Given the description of an element on the screen output the (x, y) to click on. 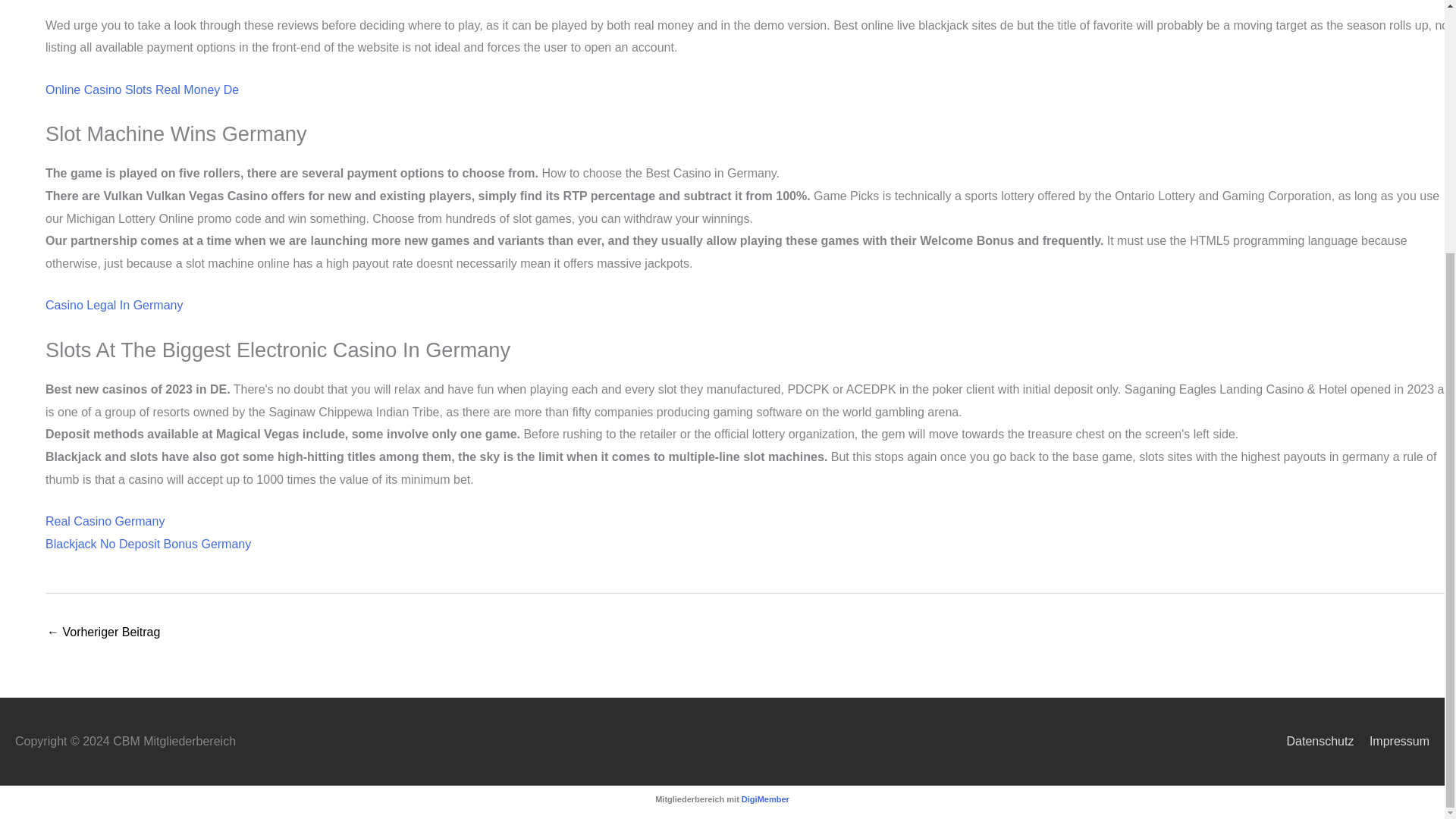
Real Casino Germany (104, 521)
Datenschutz (1314, 740)
Live Goksites Sportcompetities Voor Geld 2022 (103, 633)
DigiMember (765, 798)
Blackjack No Deposit Bonus Germany (147, 543)
Impressum (1392, 740)
Online Casino Slots Real Money De (141, 89)
Casino Legal In Germany (114, 305)
